Given the description of an element on the screen output the (x, y) to click on. 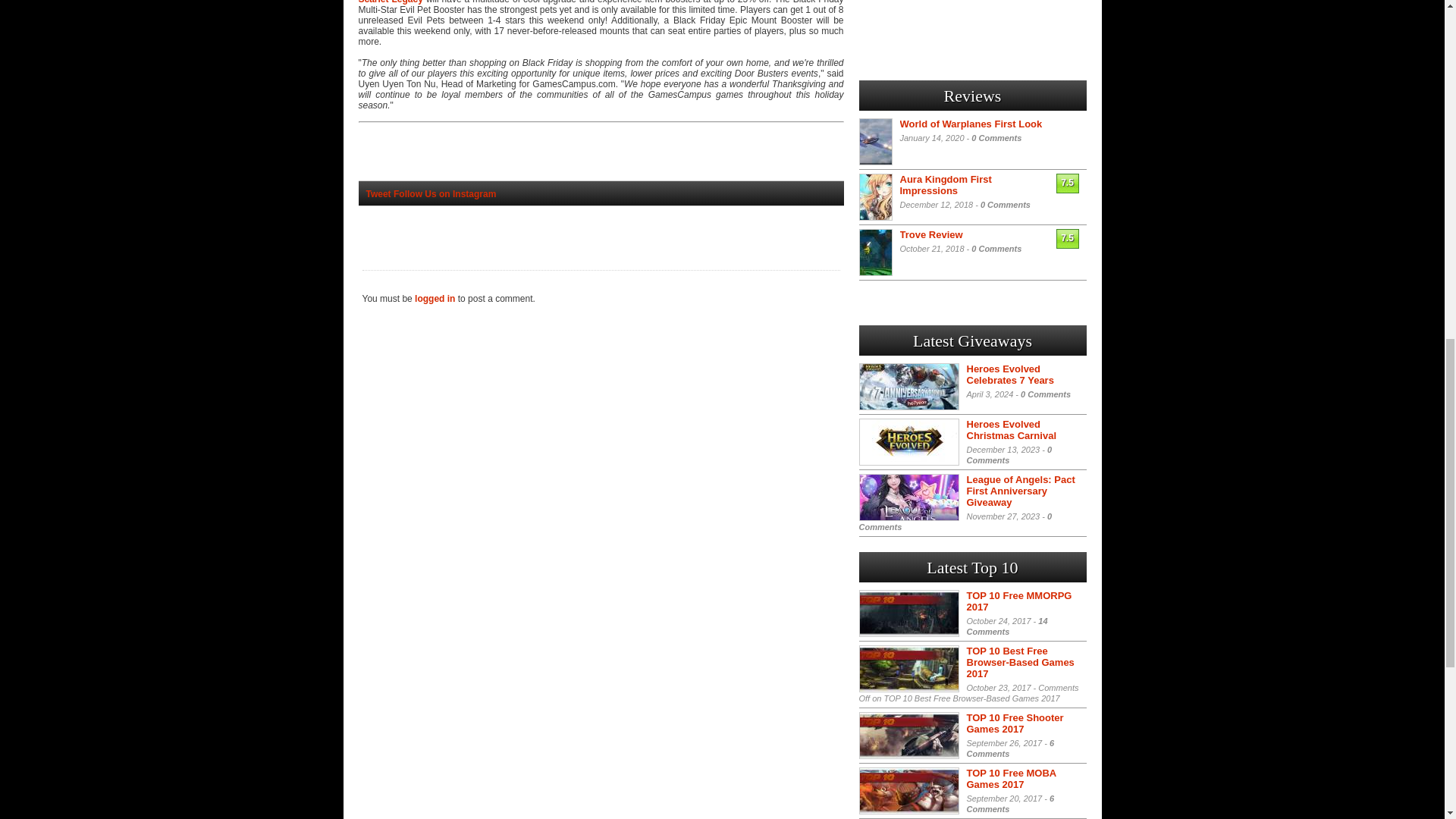
Scarlet Legacy (390, 2)
logged in (434, 298)
Follow Us on Instagram (444, 194)
Tweet (377, 194)
Trove Review (930, 234)
World of Warplanes First Look (970, 123)
Aura Kingdom First Impressions (945, 184)
Advertisement (972, 31)
